Given the description of an element on the screen output the (x, y) to click on. 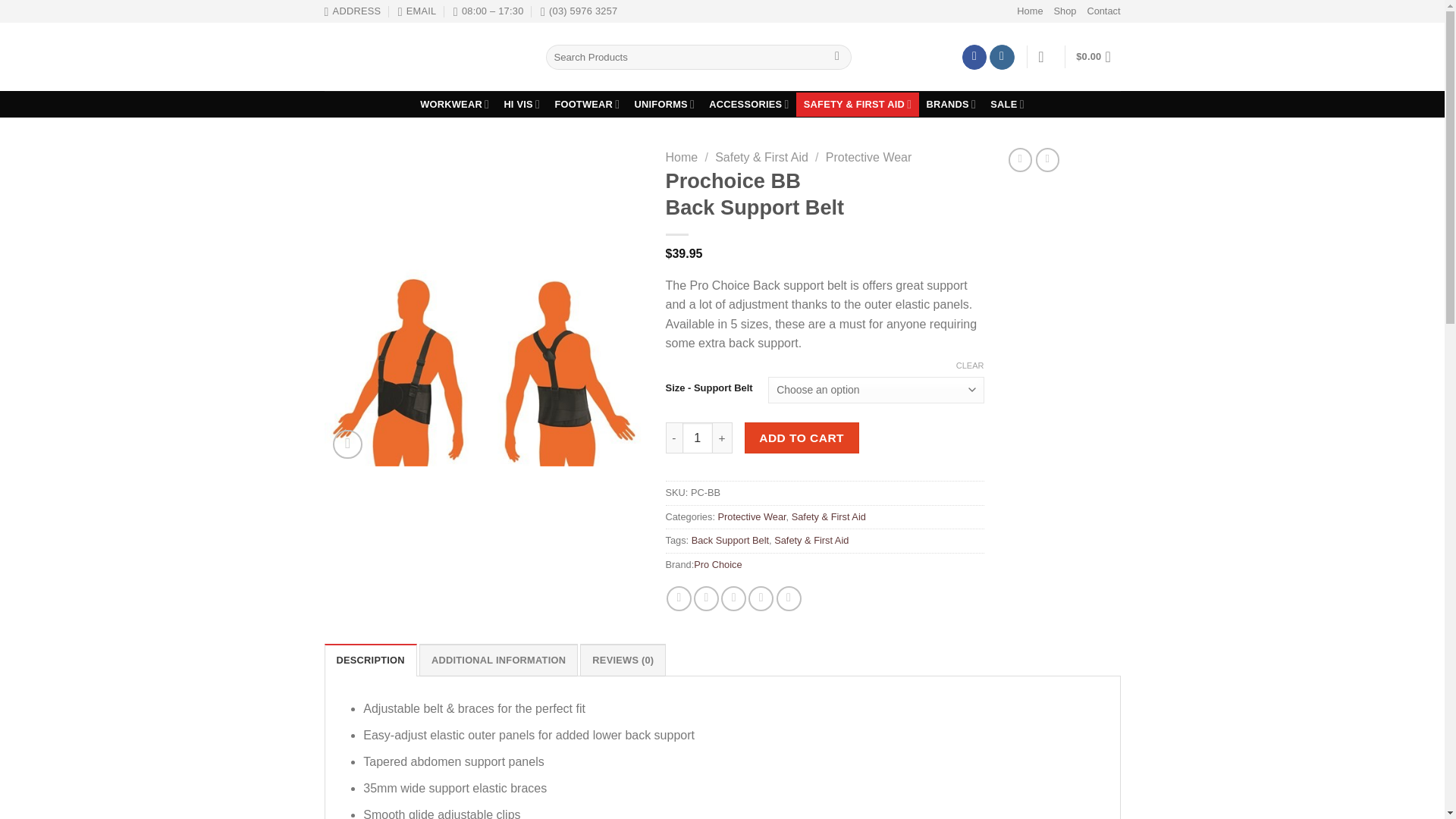
Contact (1102, 11)
Share on Twitter (706, 598)
Home (1029, 11)
Zoom (347, 444)
WORKWEAR (454, 104)
ADDRESS (352, 11)
Follow on Facebook (974, 57)
Share on Facebook (678, 598)
EMAIL (416, 11)
Follow on Instagram (1002, 57)
9 Elite Way, Mornington, Victoria, 3931 (352, 11)
Search (837, 57)
Hip Pocket Mornington - Hip Pocket Mornington (423, 56)
Shop (1065, 11)
1 (697, 437)
